Given the description of an element on the screen output the (x, y) to click on. 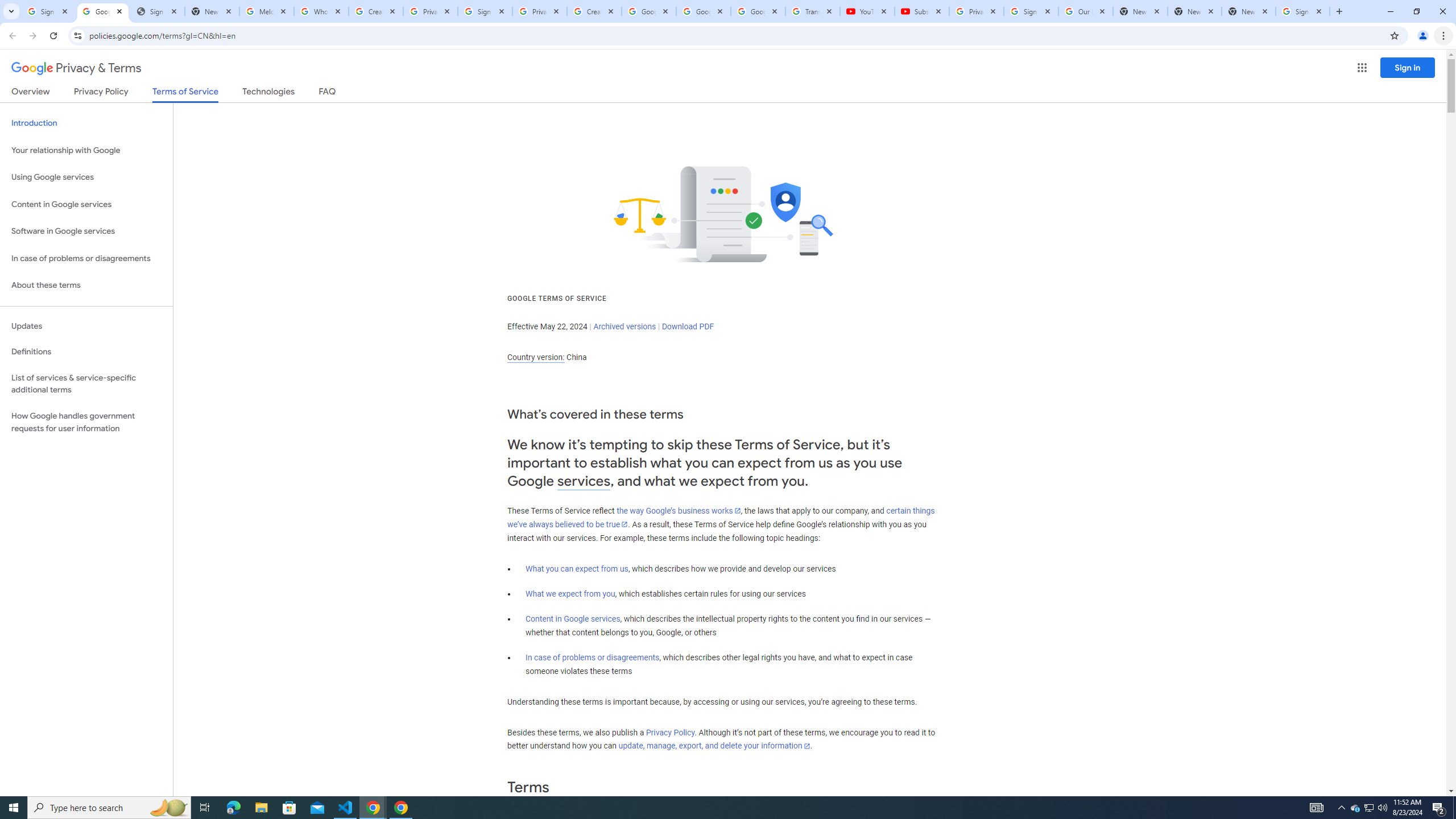
What you can expect from us (576, 568)
Create your Google Account (594, 11)
YouTube (866, 11)
You (1422, 35)
Back (10, 35)
Archived versions (624, 326)
Terms of Service (184, 94)
Introduction (86, 122)
Sign in - Google Accounts (484, 11)
Close (1318, 11)
Country version: (535, 357)
Using Google services (86, 176)
In case of problems or disagreements (592, 657)
